Given the description of an element on the screen output the (x, y) to click on. 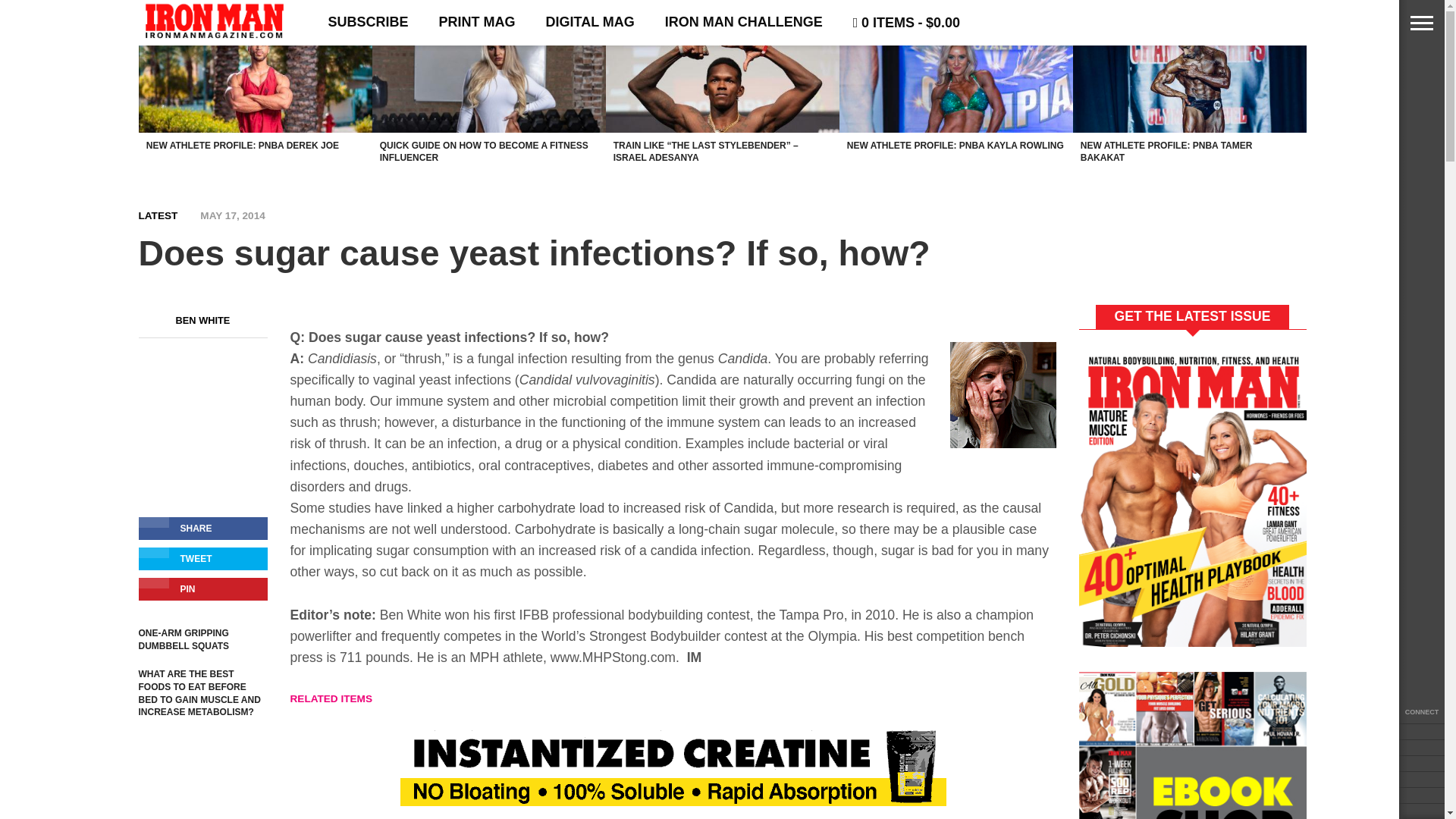
Instantized Creatine - Gains In Bulk (673, 801)
Start shopping (906, 22)
Posts by Ben White (203, 319)
